Given the description of an element on the screen output the (x, y) to click on. 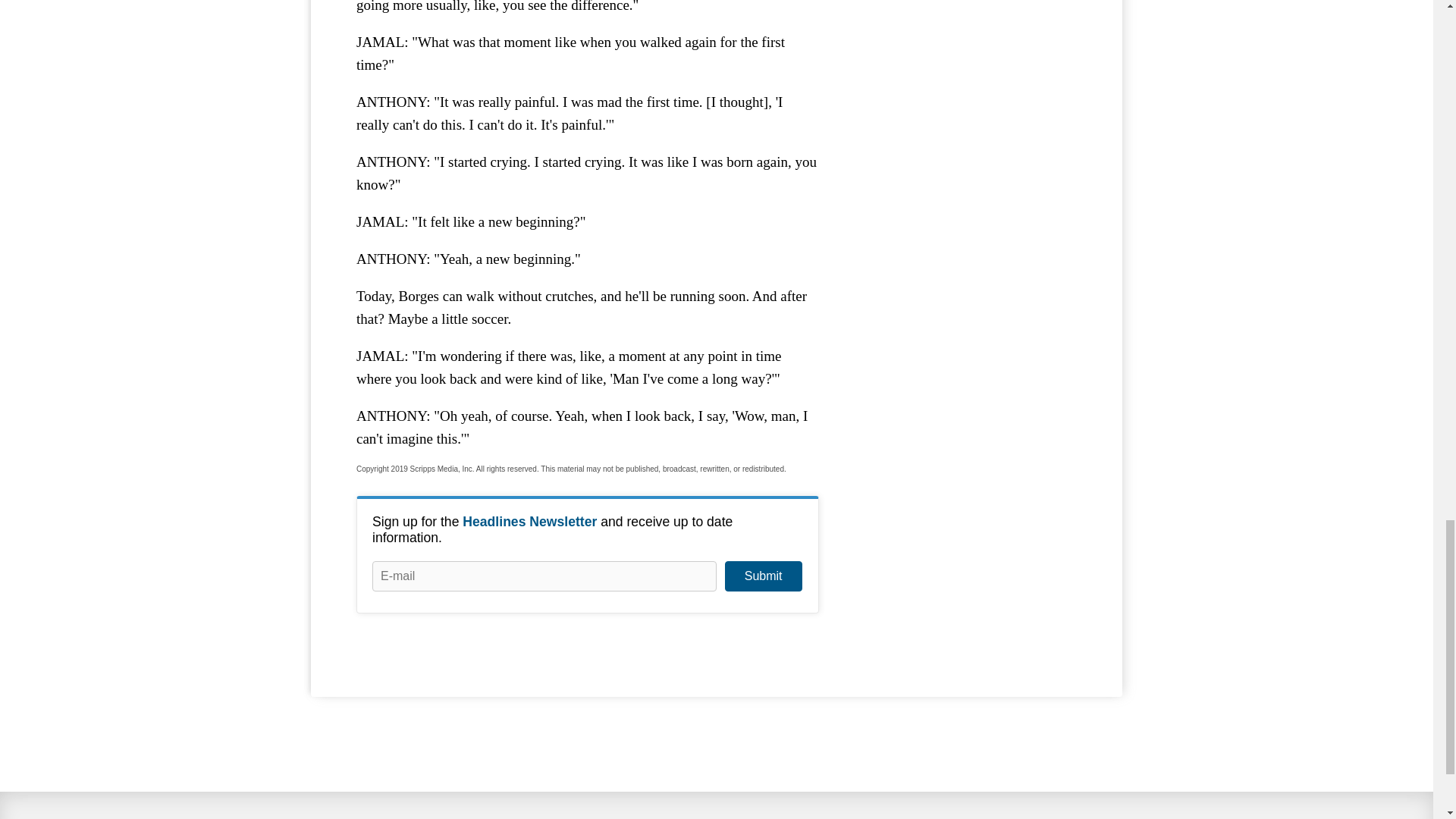
Submit (763, 576)
